Given the description of an element on the screen output the (x, y) to click on. 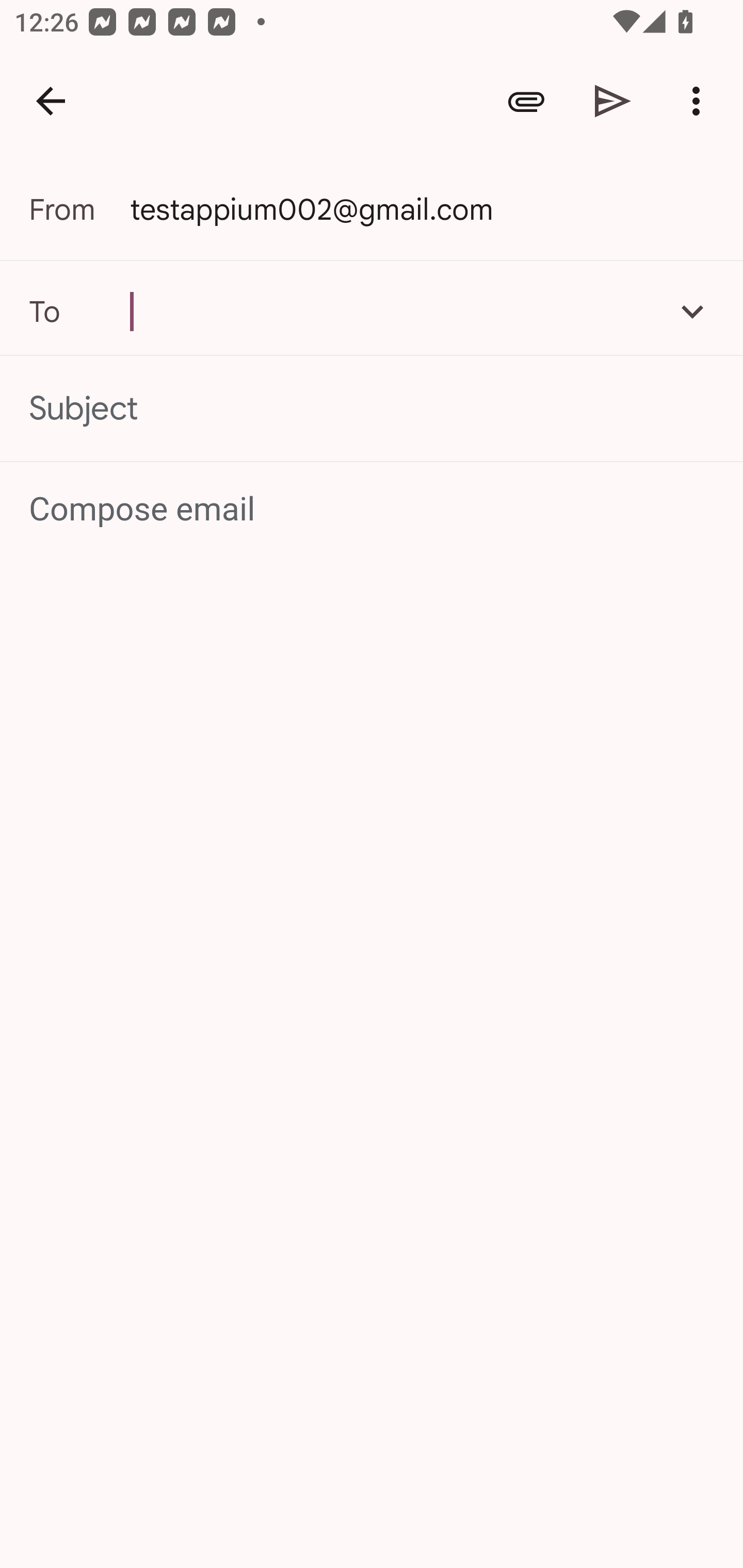
Navigate up (50, 101)
Attach file (525, 101)
Send (612, 101)
More options (699, 101)
From (79, 209)
Add Cc/Bcc (692, 311)
Subject (371, 407)
